Given the description of an element on the screen output the (x, y) to click on. 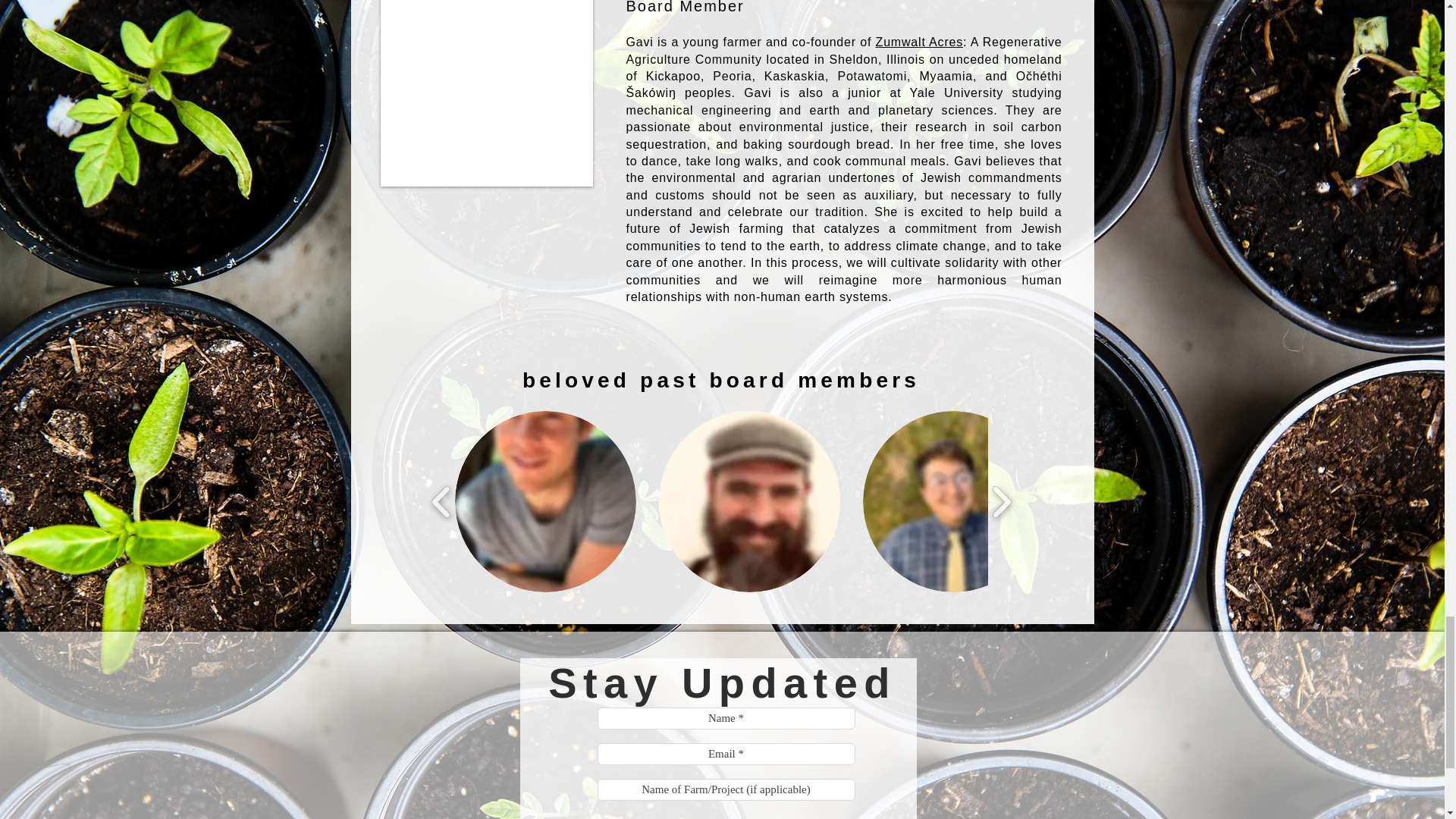
Zumwalt Acres (919, 42)
